Given the description of an element on the screen output the (x, y) to click on. 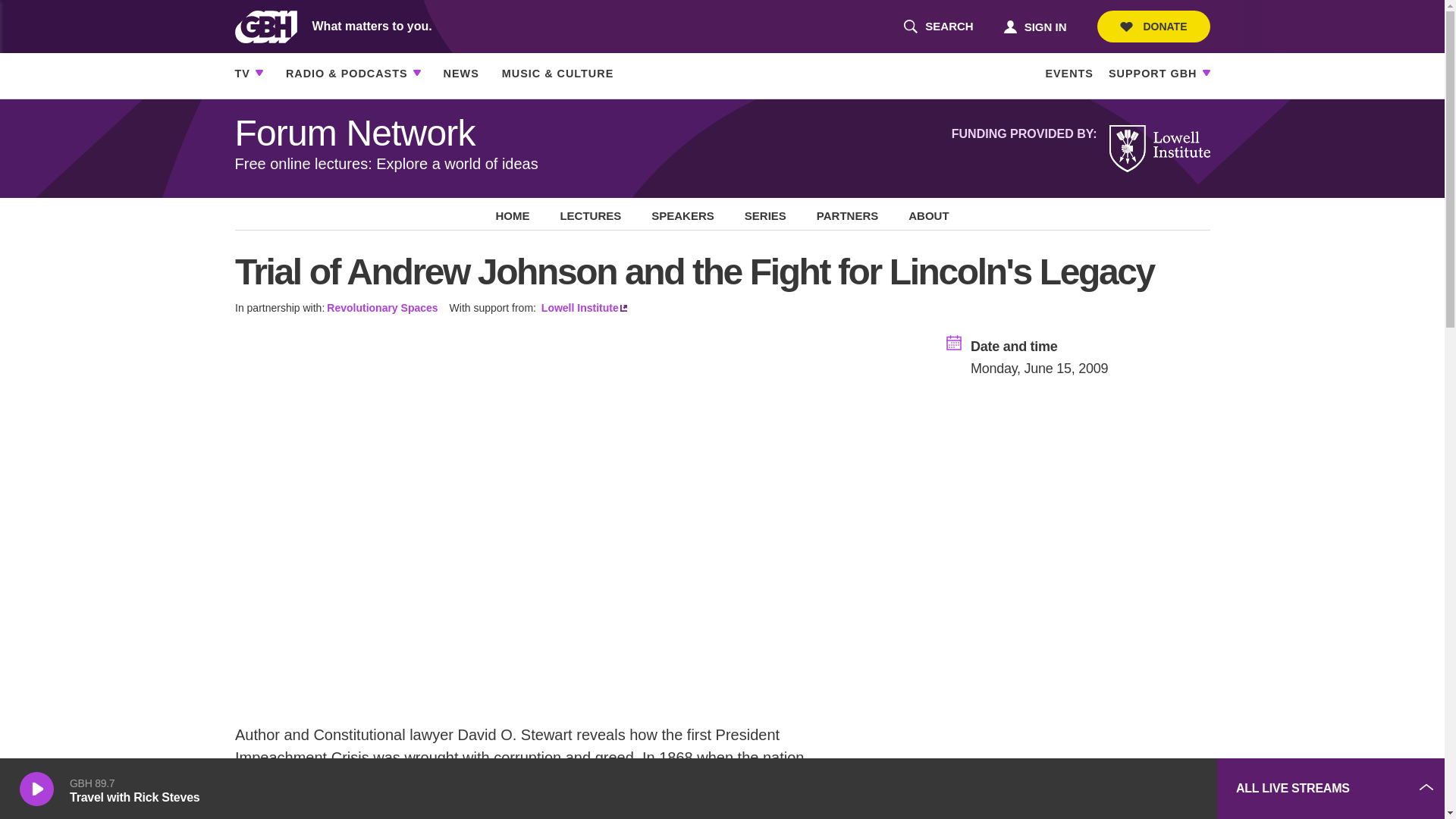
3rd party ad content (1091, 788)
DONATE (1153, 26)
SIGN IN (1034, 25)
